Given the description of an element on the screen output the (x, y) to click on. 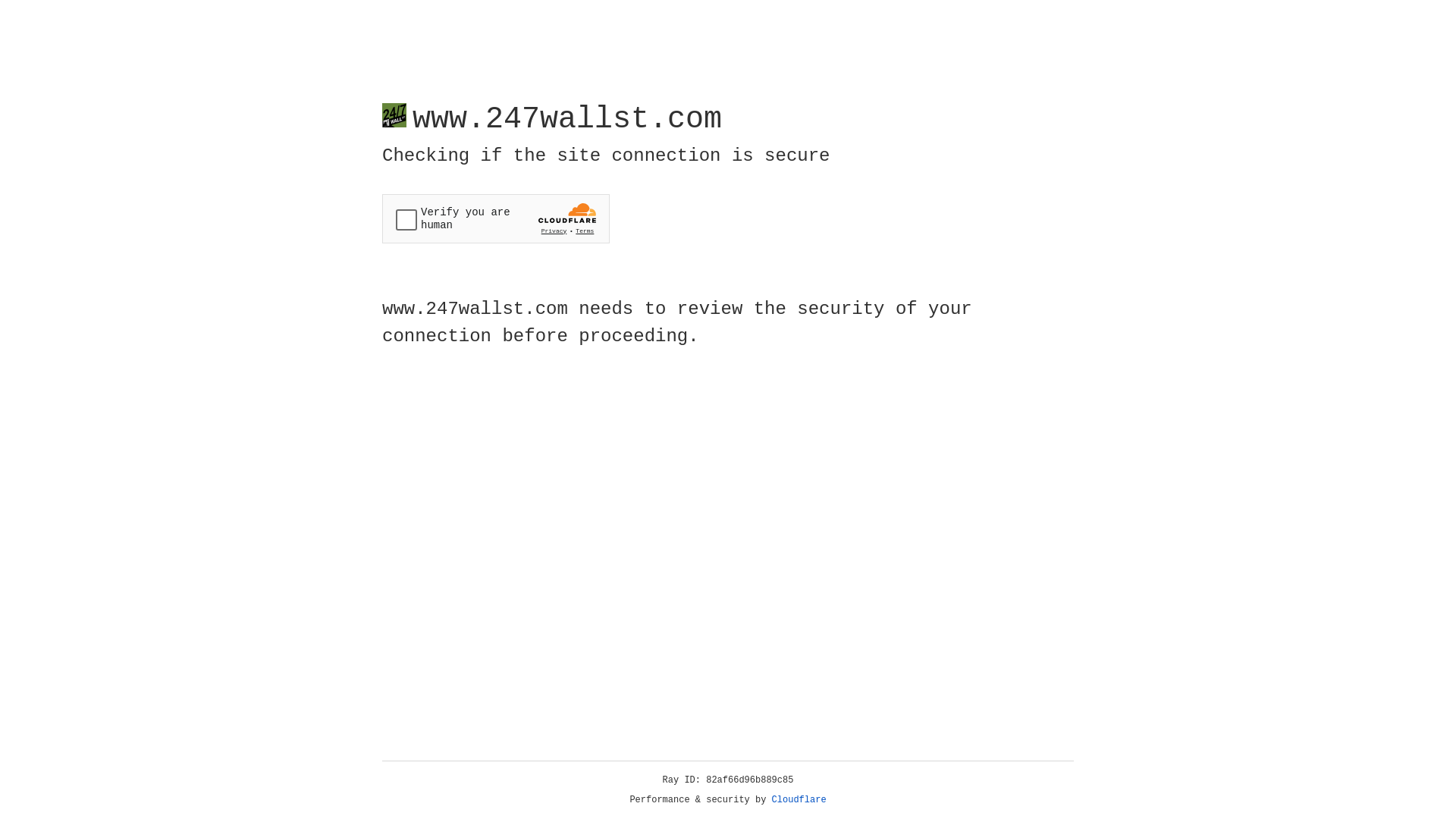
Widget containing a Cloudflare security challenge Element type: hover (495, 218)
Cloudflare Element type: text (798, 799)
